Given the description of an element on the screen output the (x, y) to click on. 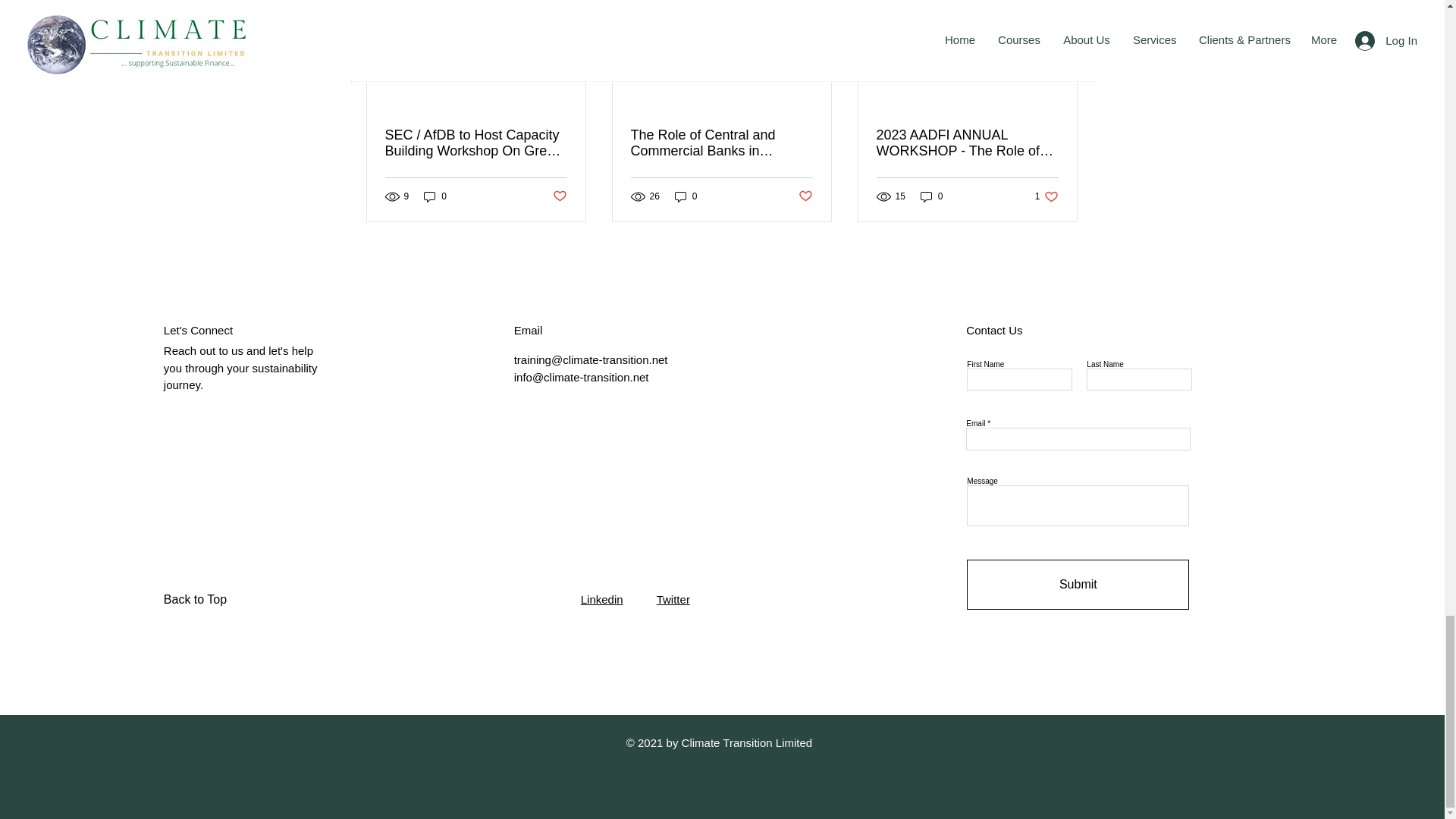
Linkedin (601, 599)
0 (931, 196)
Post not marked as liked (1046, 196)
Post not marked as liked (804, 196)
0 (558, 196)
0 (435, 196)
Submit (685, 196)
Twitter (1077, 584)
